Given the description of an element on the screen output the (x, y) to click on. 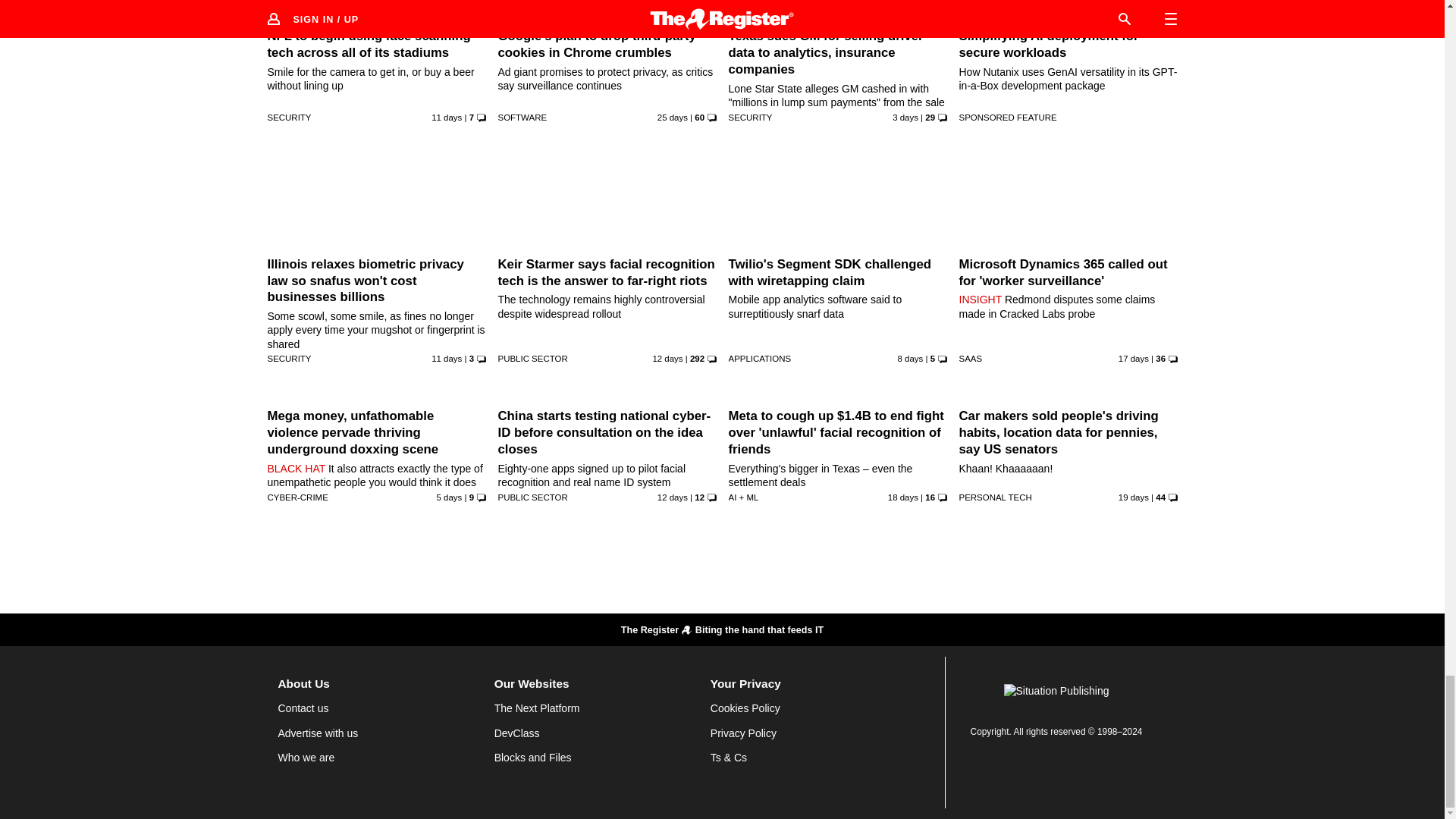
23 Jul 2024 0:3 (672, 117)
31 Jul 2024 7:39 (1133, 358)
6 Aug 2024 1:43 (445, 117)
5 Aug 2024 9:24 (667, 358)
9 Aug 2024 23:28 (910, 358)
14 Aug 2024 18:6 (905, 117)
6 Aug 2024 2:45 (445, 358)
12 Aug 2024 14:24 (449, 497)
